Given the description of an element on the screen output the (x, y) to click on. 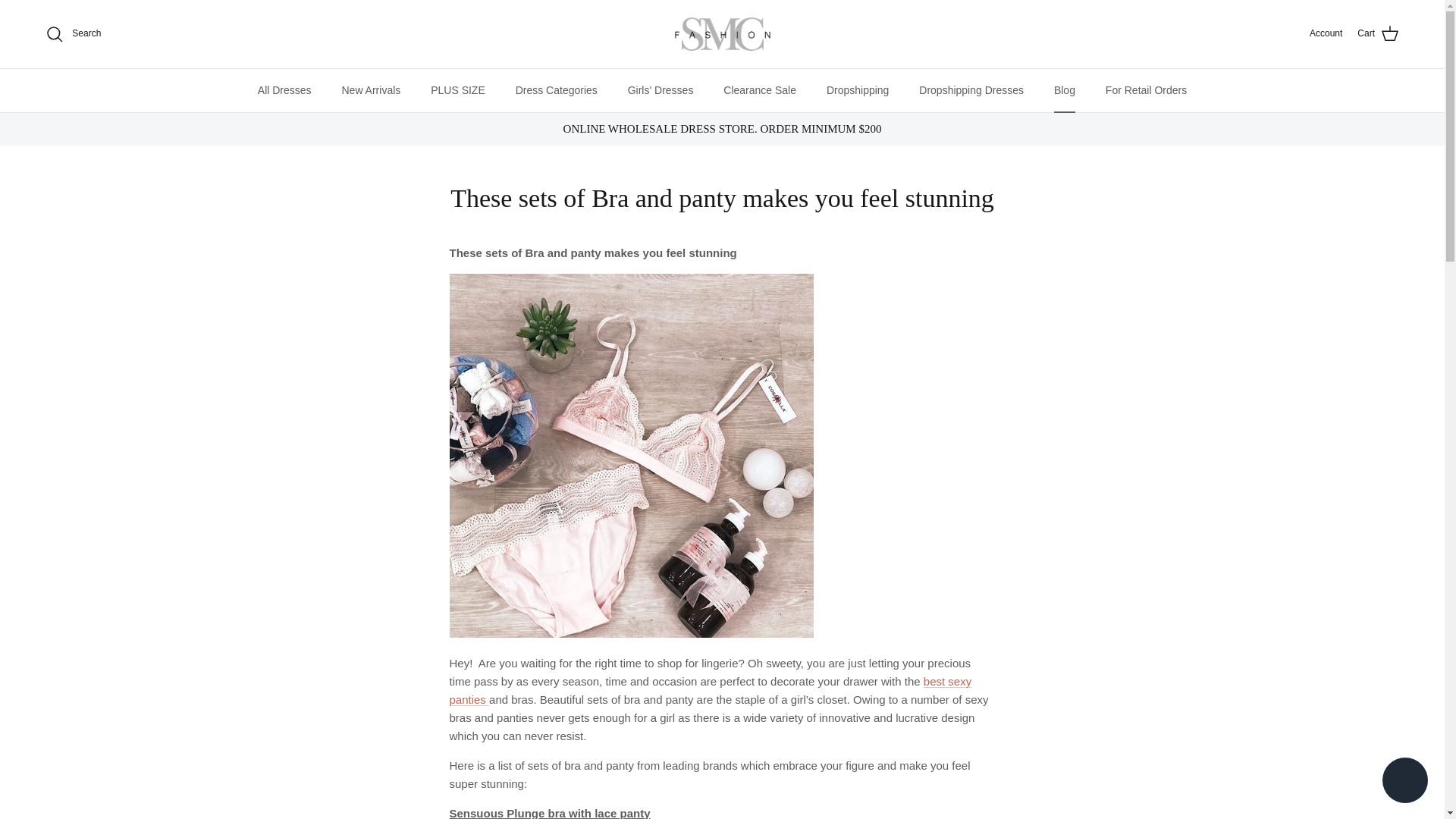
New Arrivals (370, 89)
All Dresses (284, 89)
Clearance Sale (759, 89)
Account (1325, 33)
Cart (1377, 34)
Shopify online store chat (1404, 781)
Girls' Dresses (660, 89)
Search (72, 34)
smcfashion.com (721, 34)
Dropshipping Dresses (970, 89)
